Given the description of an element on the screen output the (x, y) to click on. 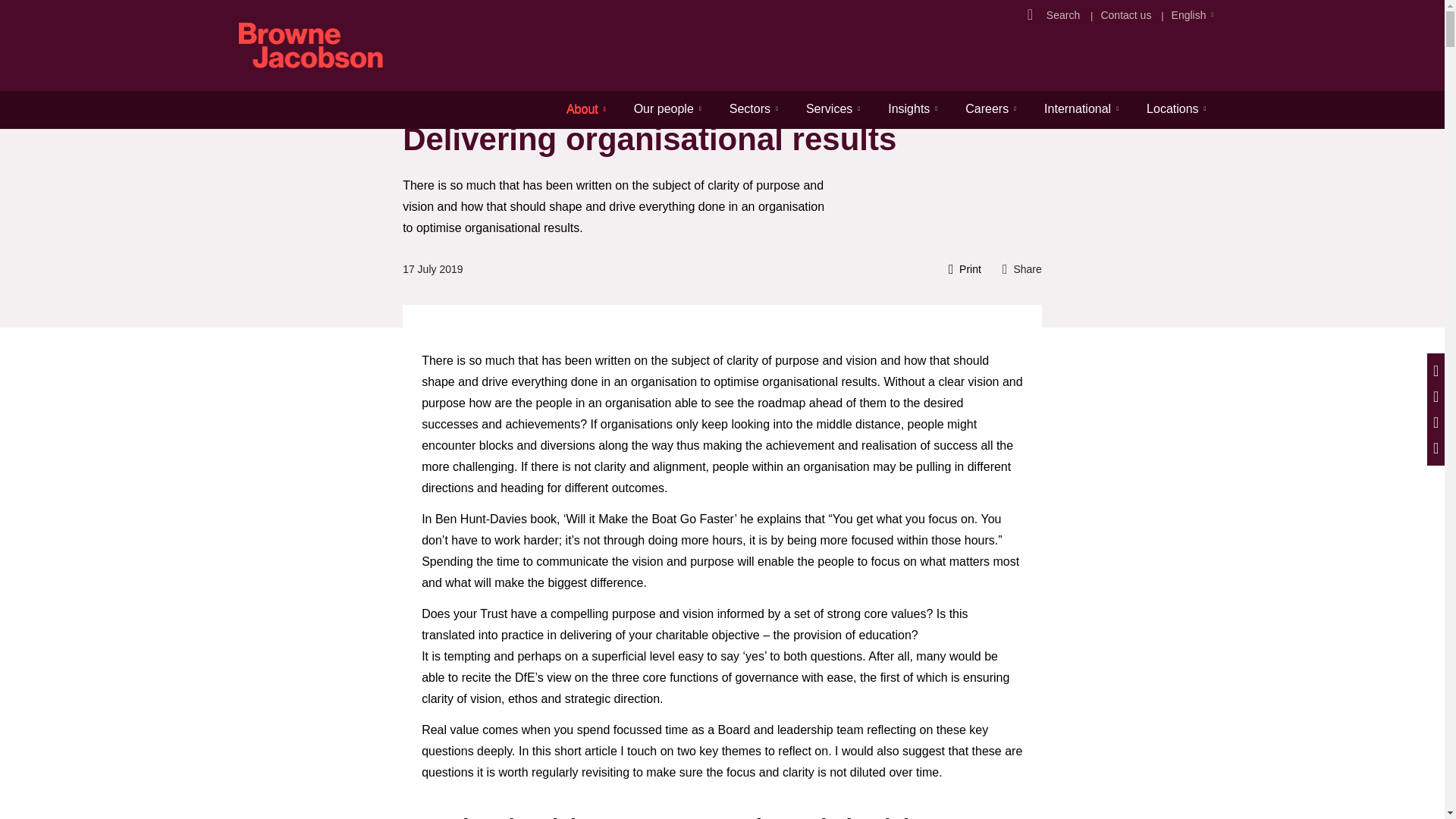
Search (1064, 15)
English (1189, 15)
About (585, 108)
Contact us (1125, 15)
